Given the description of an element on the screen output the (x, y) to click on. 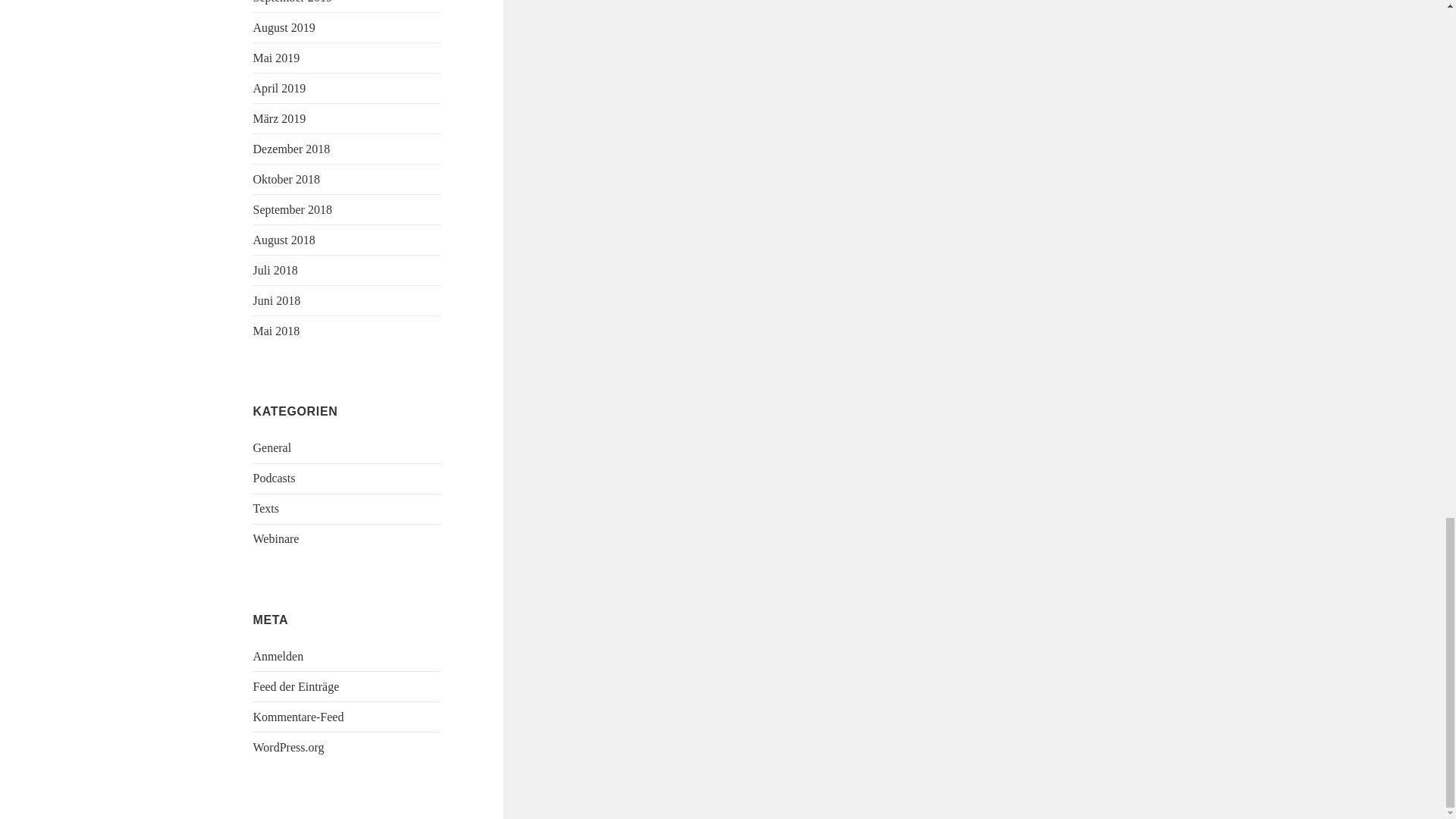
Juli 2018 (275, 269)
Oktober 2018 (286, 178)
Dezember 2018 (291, 148)
Juni 2018 (277, 300)
Mai 2018 (276, 330)
Texts (266, 508)
General (272, 447)
Podcasts (274, 477)
September 2019 (292, 2)
Mai 2019 (276, 57)
